Given the description of an element on the screen output the (x, y) to click on. 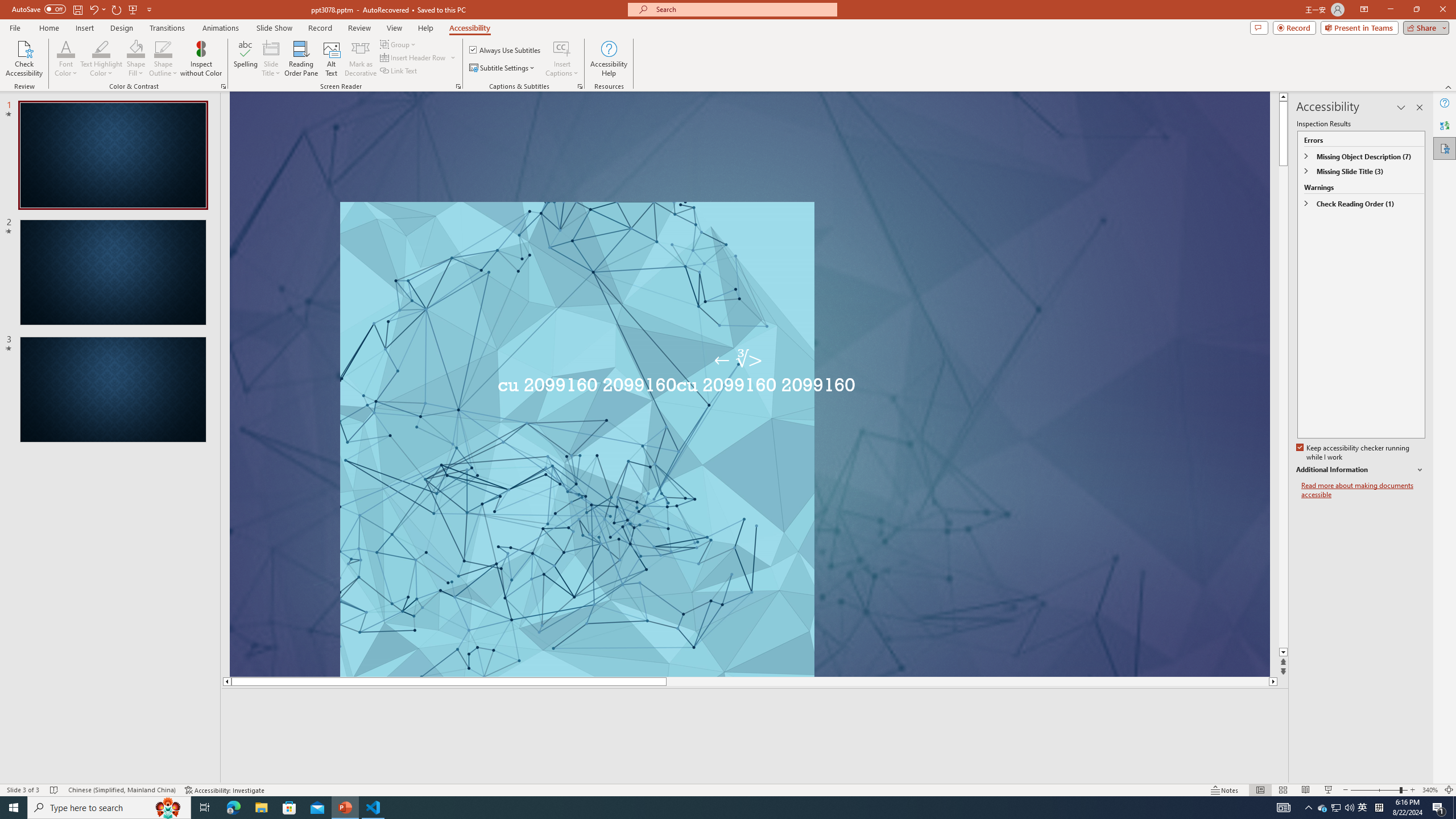
An abstract genetic concept (761, 395)
Read more about making documents accessible (1363, 489)
Keep accessibility checker running while I work (1353, 452)
Color & Contrast (223, 85)
Slide Notes (755, 705)
Screen Reader (458, 85)
